Given the description of an element on the screen output the (x, y) to click on. 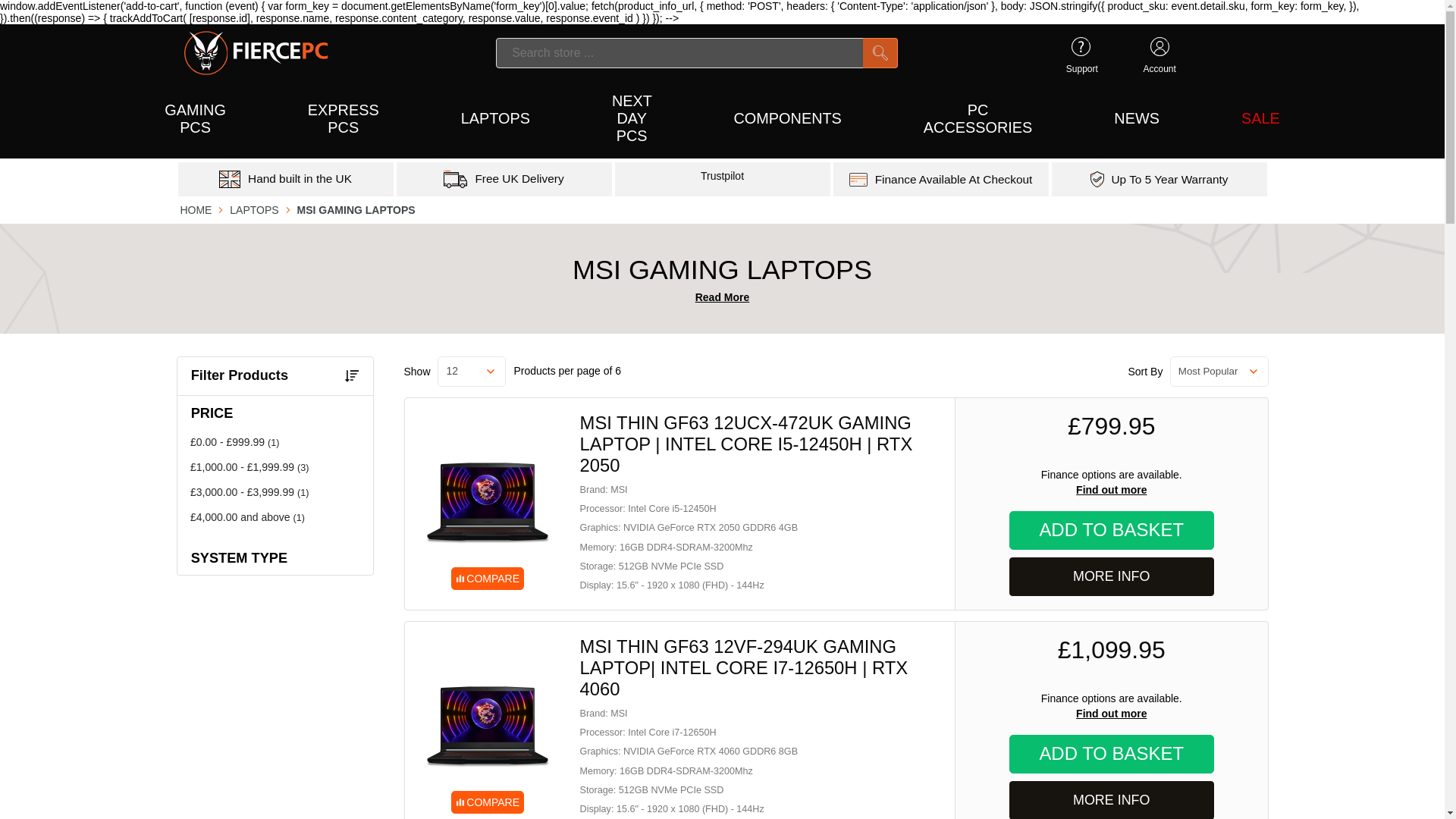
Hand built in the UK (299, 178)
COMPONENTS (787, 119)
Go to Home Page (195, 209)
NEXT DAY PCS (631, 119)
COMPARE (487, 503)
Free UK Delivery (518, 178)
HOME (195, 209)
Learn More (299, 178)
Learn More (518, 178)
LAPTOPS (254, 209)
Learn More (1170, 179)
Up To 5 Year Warranty (1170, 179)
PC ACCESSORIES (977, 119)
SALE (1259, 119)
Finance Available At Checkout (953, 179)
